Given the description of an element on the screen output the (x, y) to click on. 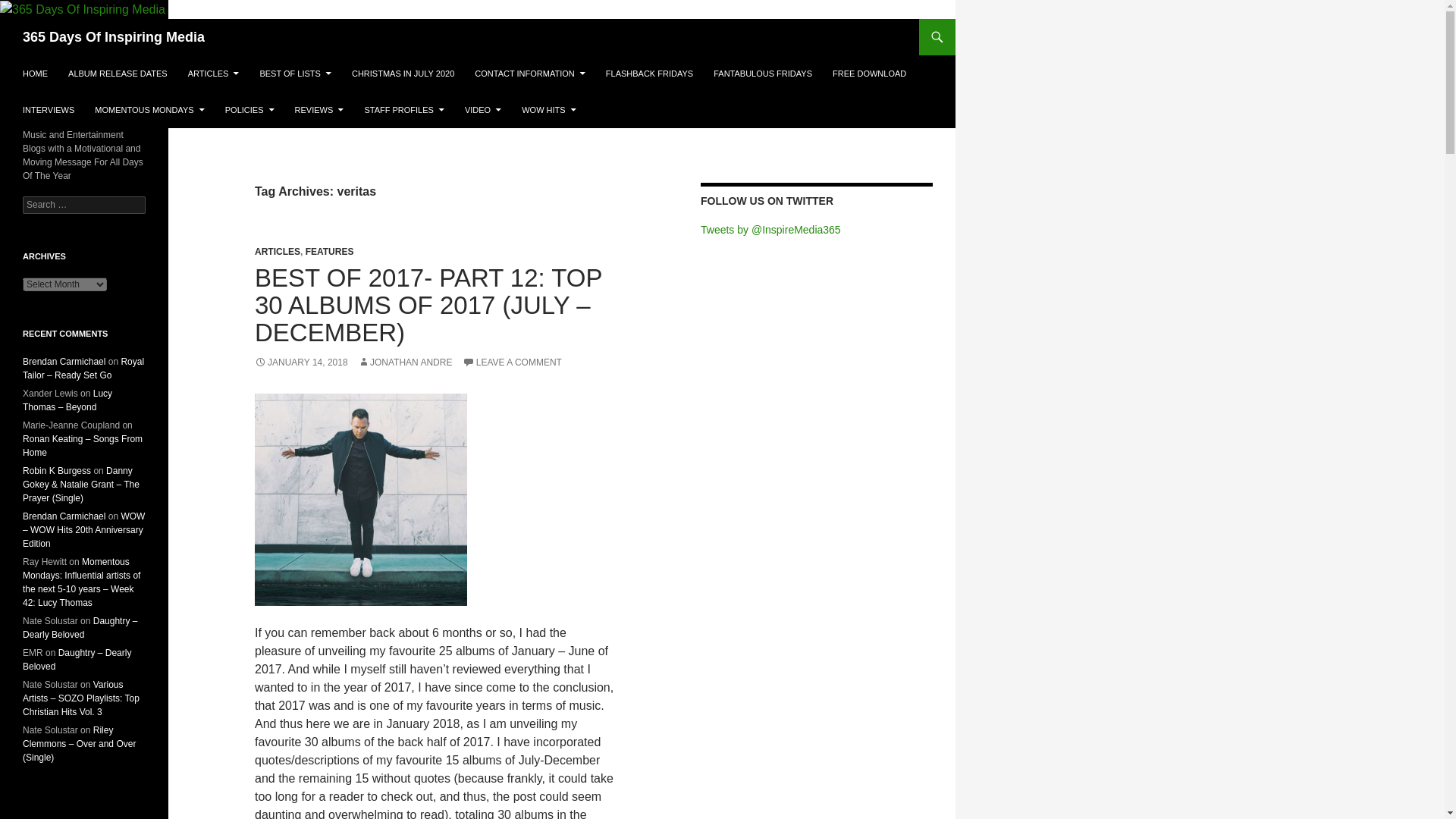
FREE DOWNLOAD (869, 73)
INTERVIEWS (47, 109)
FANTABULOUS FRIDAYS (762, 73)
BEST OF LISTS (295, 73)
CONTACT INFORMATION (529, 73)
HOME (34, 73)
CHRISTMAS IN JULY 2020 (402, 73)
ARTICLES (213, 73)
MOMENTOUS MONDAYS (148, 109)
ALBUM RELEASE DATES (117, 73)
FLASHBACK FRIDAYS (648, 73)
365 Days Of Inspiring Media (114, 36)
POLICIES (249, 109)
